Given the description of an element on the screen output the (x, y) to click on. 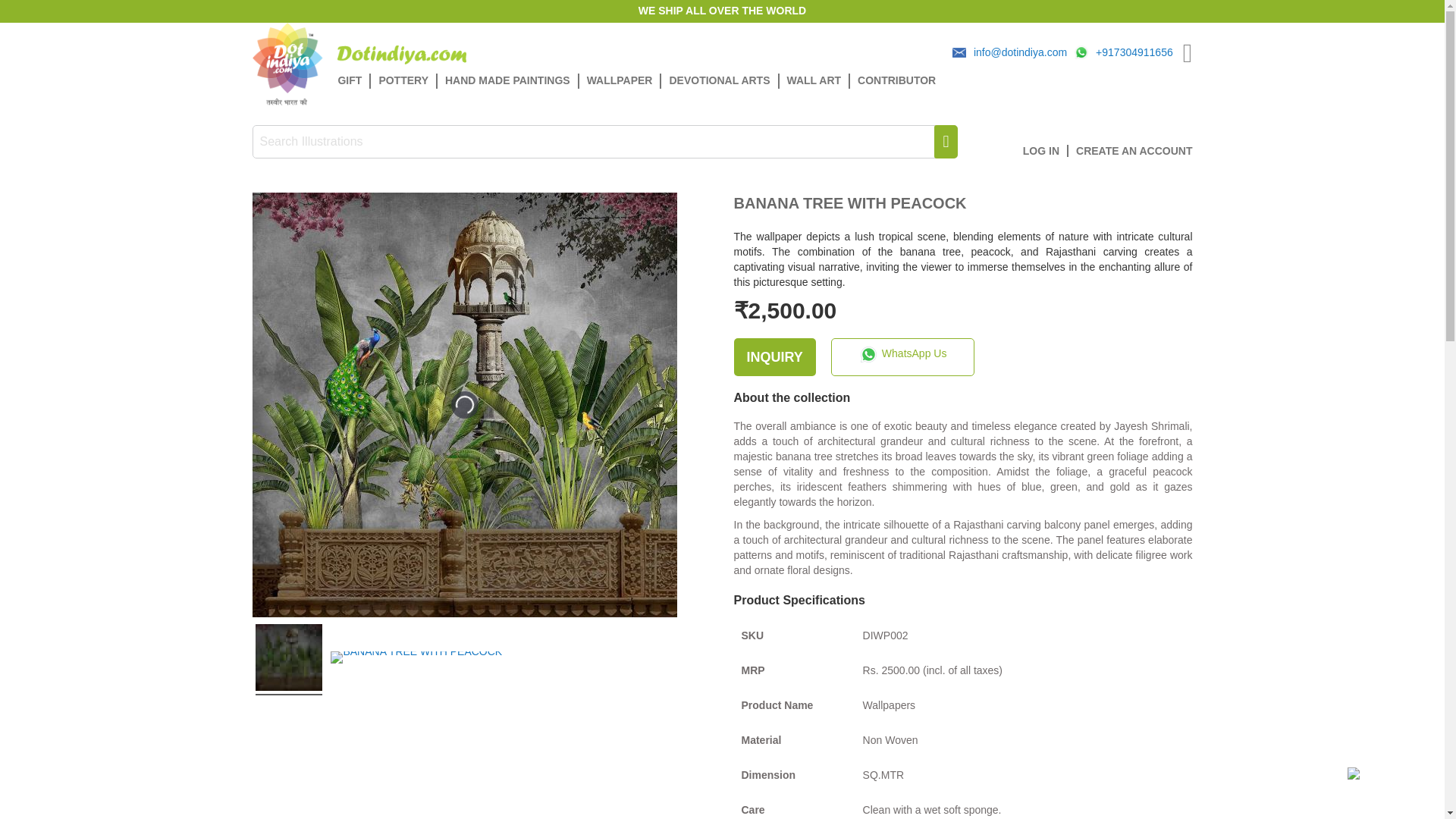
Search (945, 141)
LOG IN (1045, 150)
WALLPAPER (620, 80)
HAND MADE PAINTINGS (508, 80)
BANANA TREE WITH PEACOCK (416, 659)
BANANA TREE WITH PEACOCK (287, 659)
DEVOTIONAL ARTS (719, 80)
My Cart (1187, 55)
GIFT (354, 80)
CREATE AN ACCOUNT (1133, 150)
POTTERY (404, 80)
WALL ART (814, 80)
Search (945, 141)
CONTRIBUTOR (896, 80)
